Given the description of an element on the screen output the (x, y) to click on. 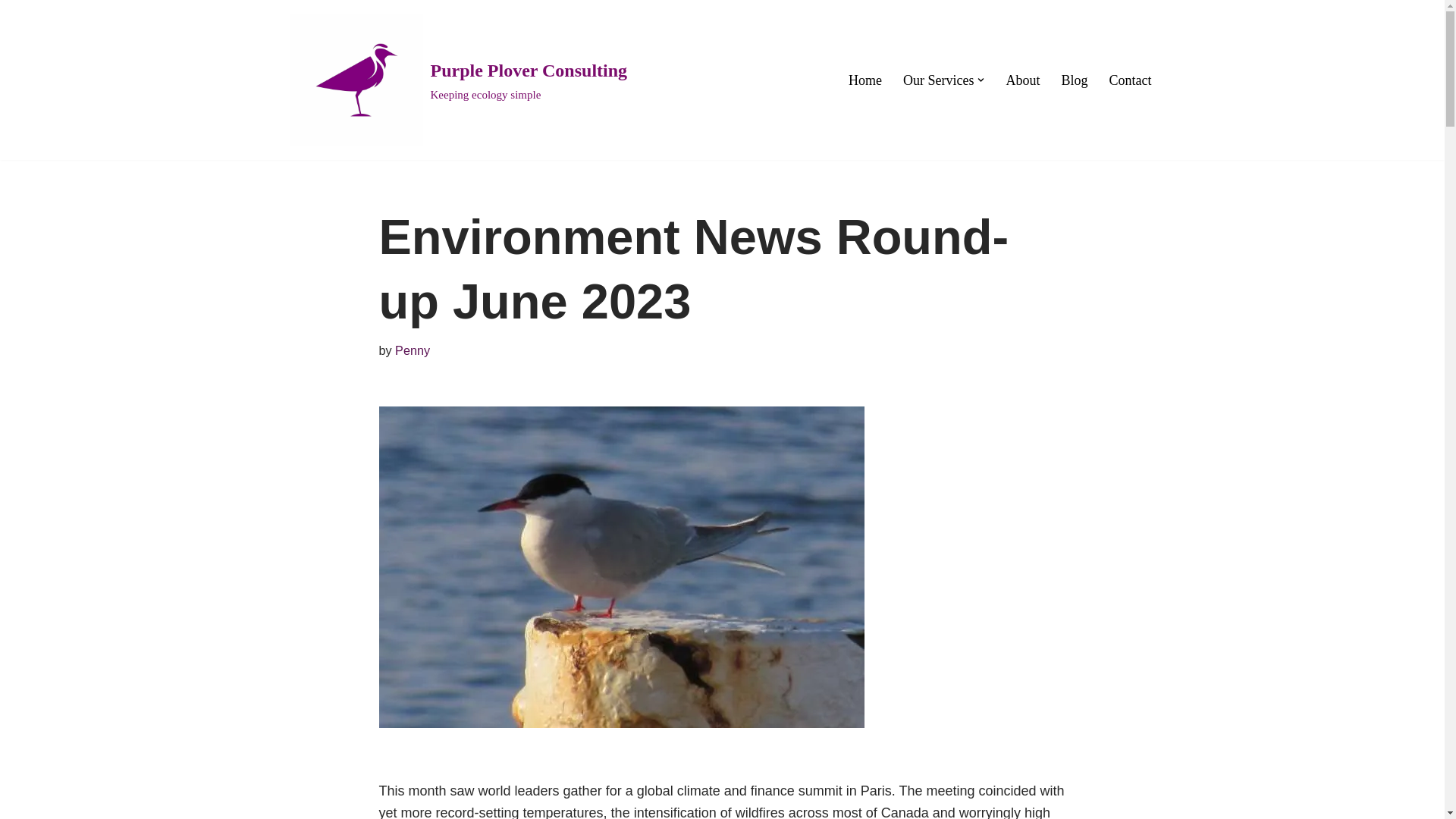
Posts by Penny (411, 350)
Skip to content (11, 31)
About (1022, 79)
Penny (411, 350)
Contact (1129, 79)
Our Services (938, 79)
Blog (458, 79)
Home (1074, 79)
